Given the description of an element on the screen output the (x, y) to click on. 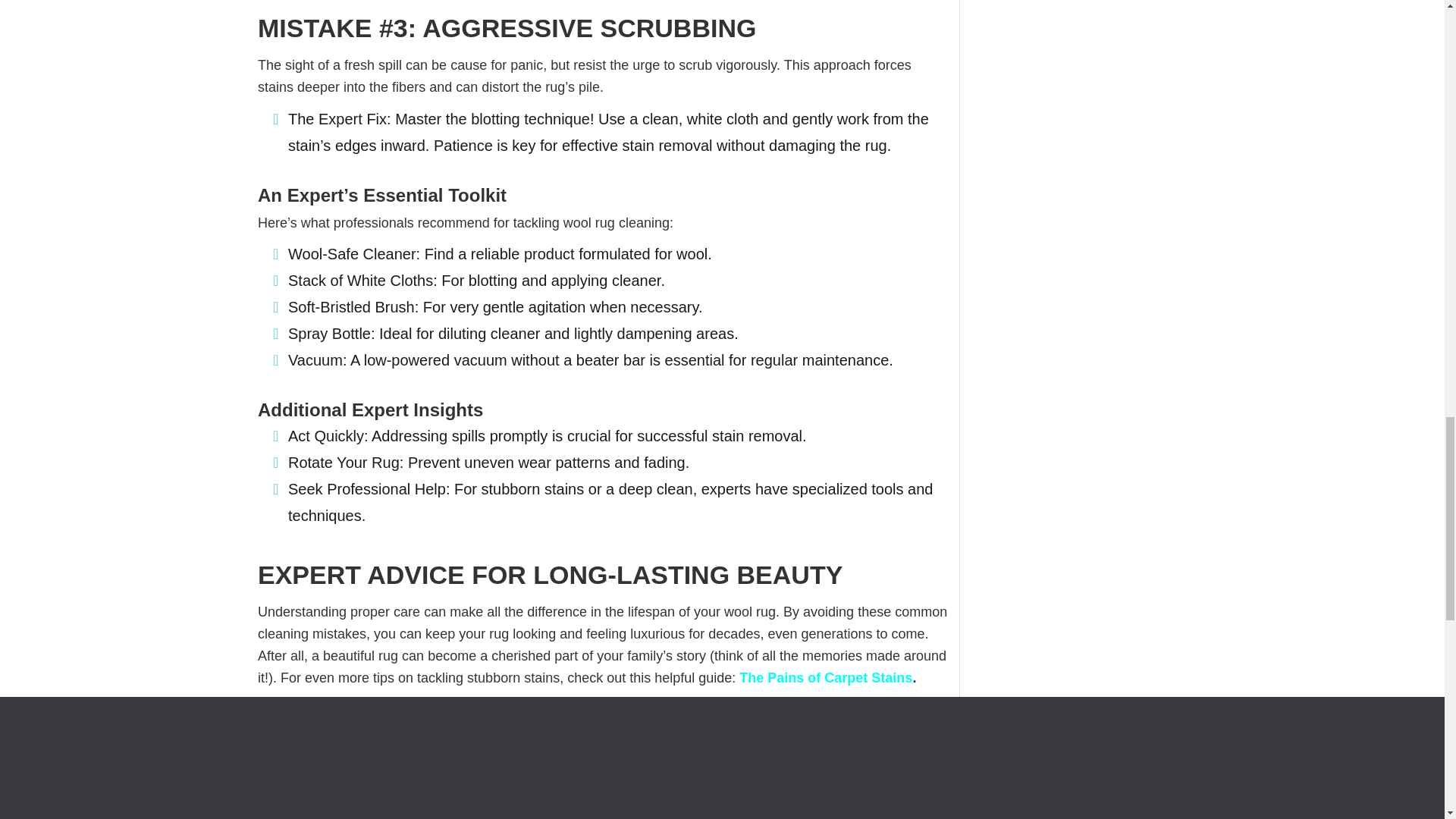
The Pains of Carpet Stains. (827, 677)
